Given the description of an element on the screen output the (x, y) to click on. 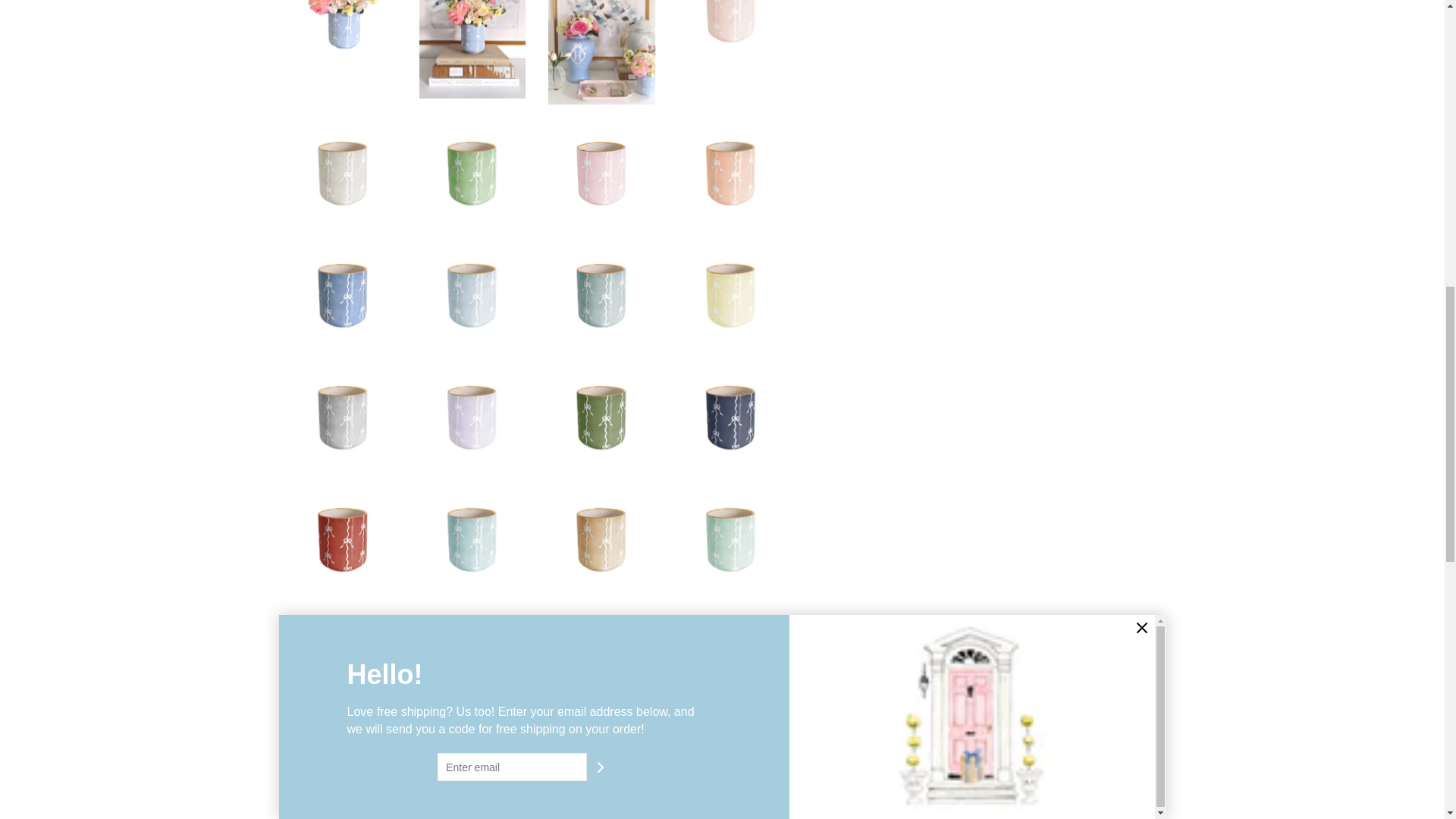
Bow Stripe Vase with 22K Gold Accent (731, 294)
Bow Stripe Vase with 22K Gold Accent (472, 416)
Bow Stripe Vase with 22K Gold Accent (342, 31)
Bow Stripe Vase with 22K Gold Accent (601, 172)
Bow Stripe Vase with 22K Gold Accent (601, 294)
Bow Stripe Vase with 22K Gold Accent (472, 172)
Bow Stripe Vase with 22K Gold Accent (601, 52)
Bow Stripe Vase with 22K Gold Accent (472, 49)
Bow Stripe Vase with 22K Gold Accent (731, 172)
Bow Stripe Vase with 22K Gold Accent (342, 172)
